Given the description of an element on the screen output the (x, y) to click on. 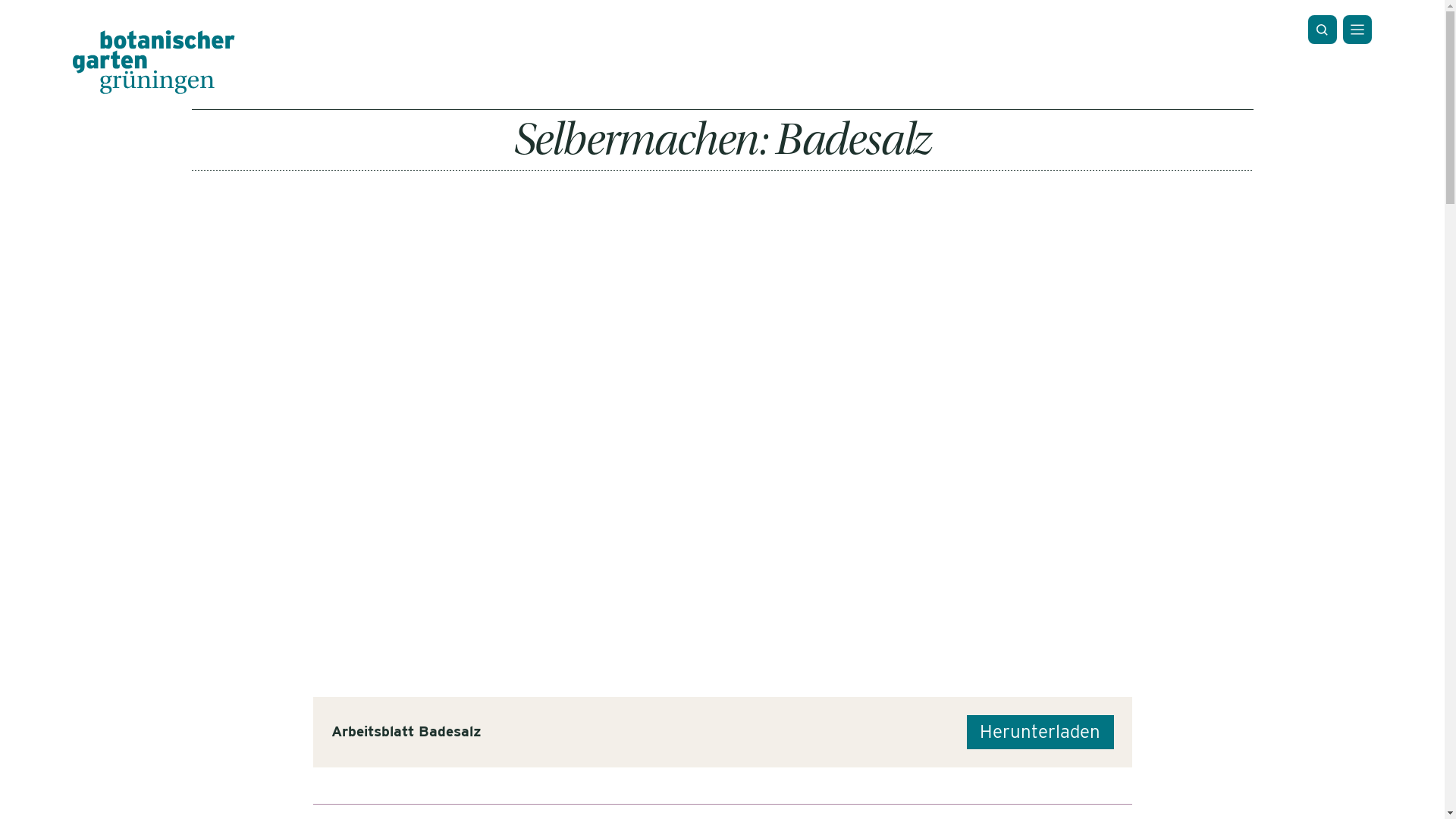
Herunterladen Element type: text (1039, 732)
Arbeitsblatt Badesalz Element type: text (405, 731)
Zum Selbermachen: Badesalz Element type: hover (721, 420)
